Given the description of an element on the screen output the (x, y) to click on. 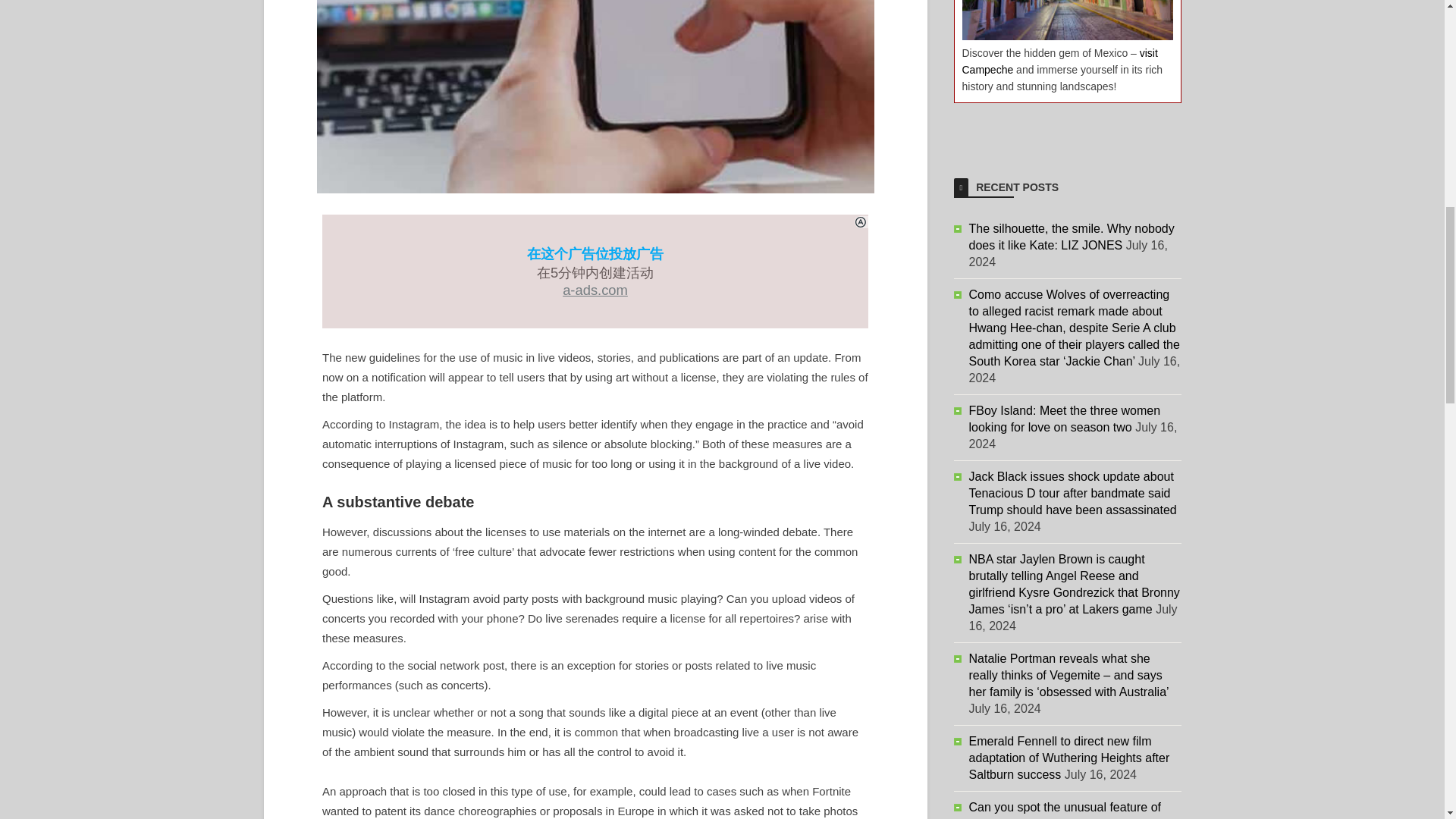
visit Campeche (1058, 61)
